Given the description of an element on the screen output the (x, y) to click on. 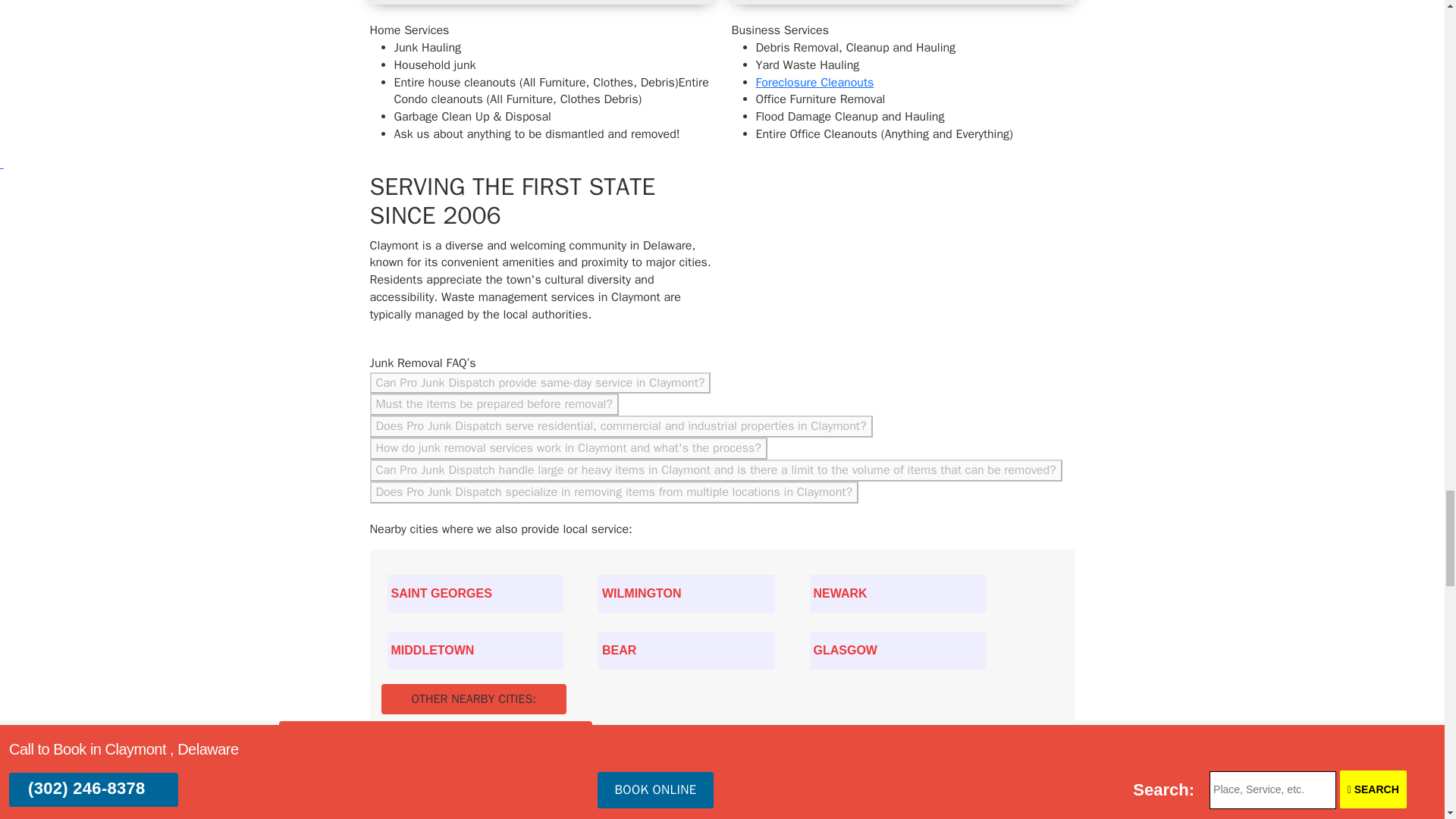
Pro Junk Dispatch art drawing of State of Delaware (852, 263)
New Castle County, DE - T51 - Bear (686, 650)
New Castle County, DE - T51 - Glasgow (898, 650)
Foreclosure Cleanouts (814, 82)
Pro Junk Dispatch trash cleanout video (902, 2)
Must the items be prepared before removal? (493, 404)
New Castle County, DE - T51 - Middletown (475, 650)
Pro Junk Dispatch Garage Cleanout video (541, 2)
New Castle County, DE - T51 - Saint Georges (475, 593)
Can Pro Junk Dispatch provide same-day service in Claymont? (540, 382)
